Given the description of an element on the screen output the (x, y) to click on. 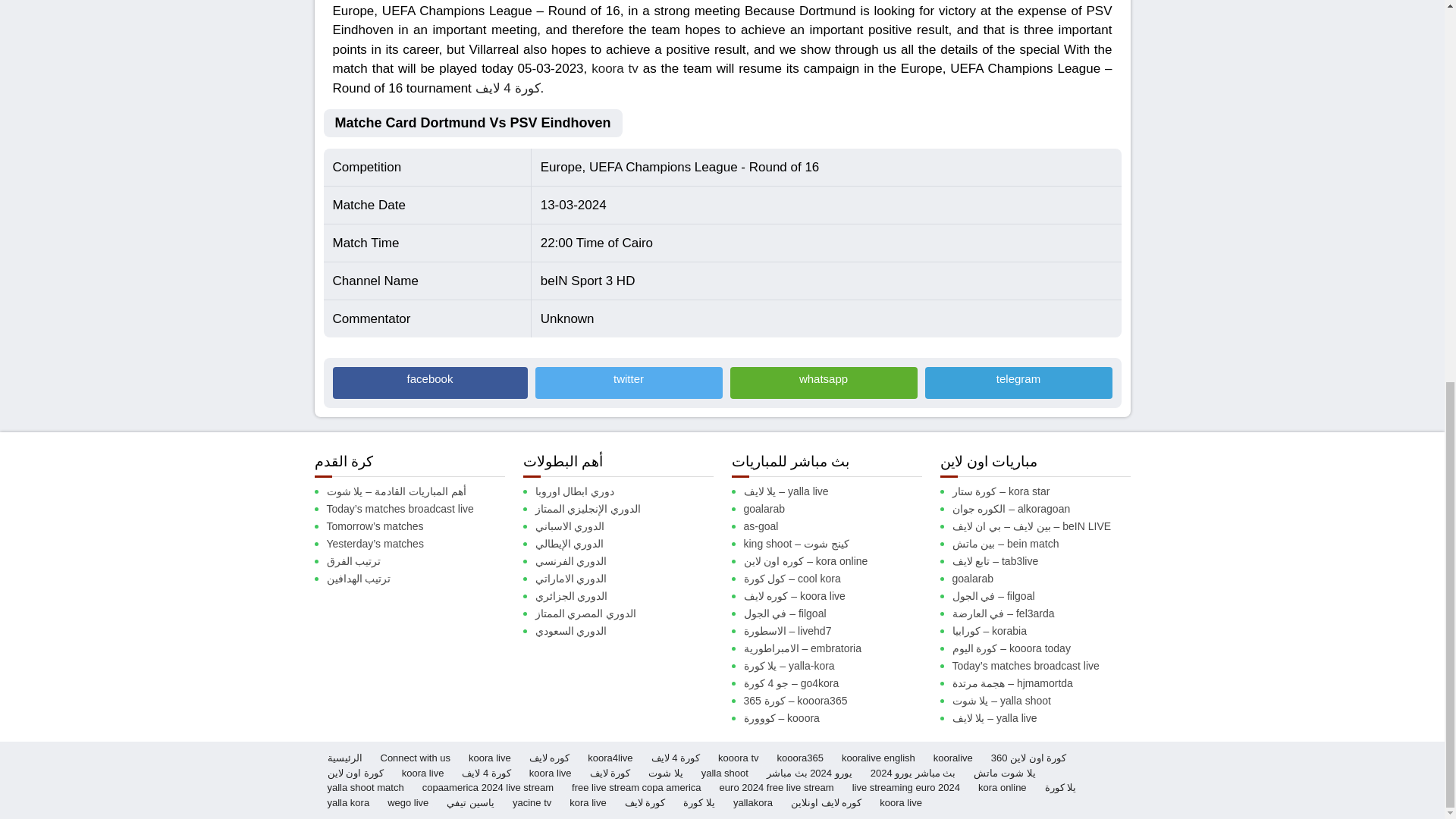
Share to facebook (429, 382)
whatsapp (823, 382)
Share to telegram (1018, 382)
twitter (628, 382)
Share to twitter (628, 382)
Share to whatsapp (823, 382)
telegram (1018, 382)
koora tv (615, 68)
facebook (429, 382)
